Given the description of an element on the screen output the (x, y) to click on. 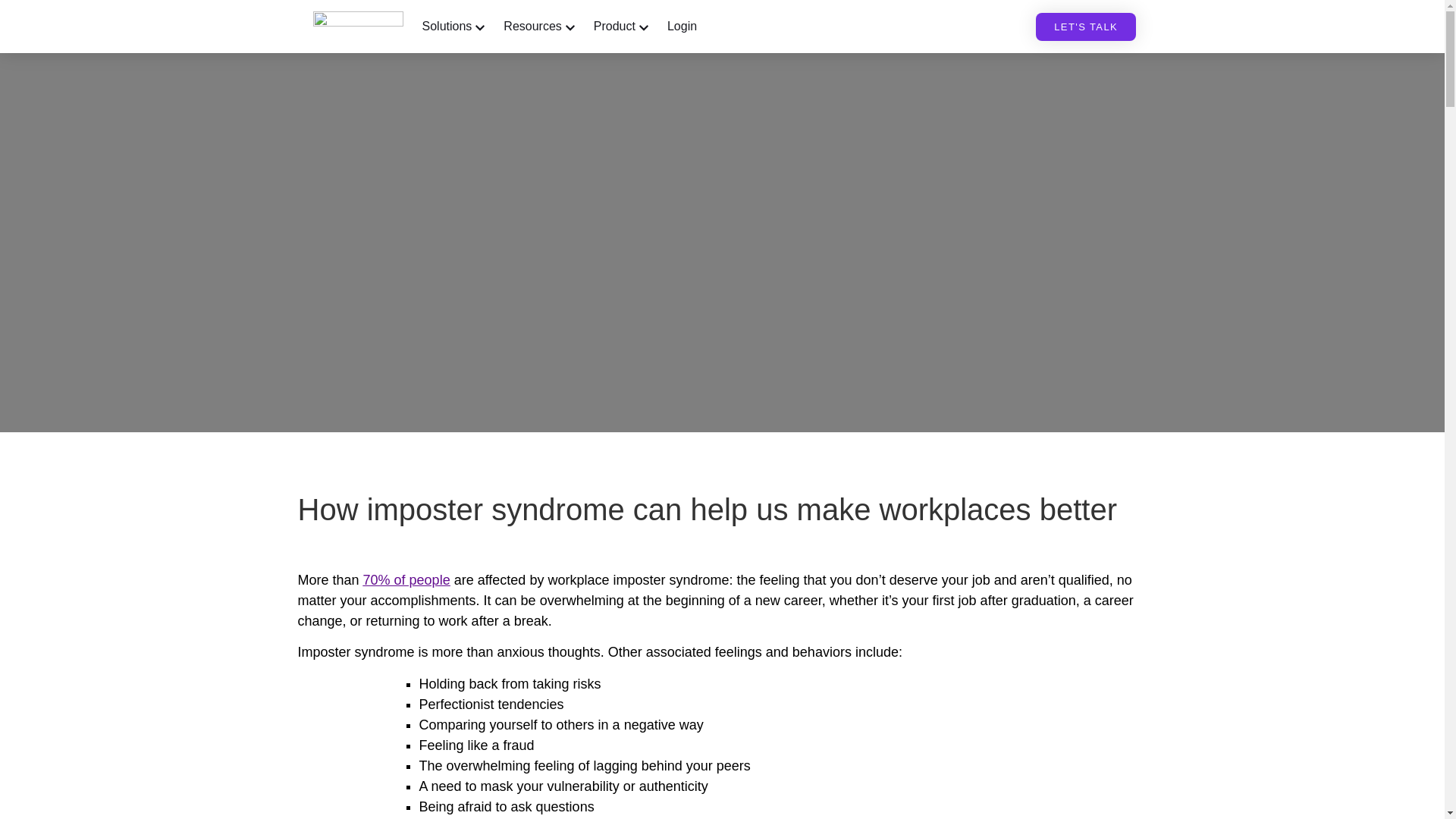
Product (614, 26)
LET'S TALK (1085, 26)
Resources (531, 26)
Login (681, 26)
Solutions (446, 26)
